Given the description of an element on the screen output the (x, y) to click on. 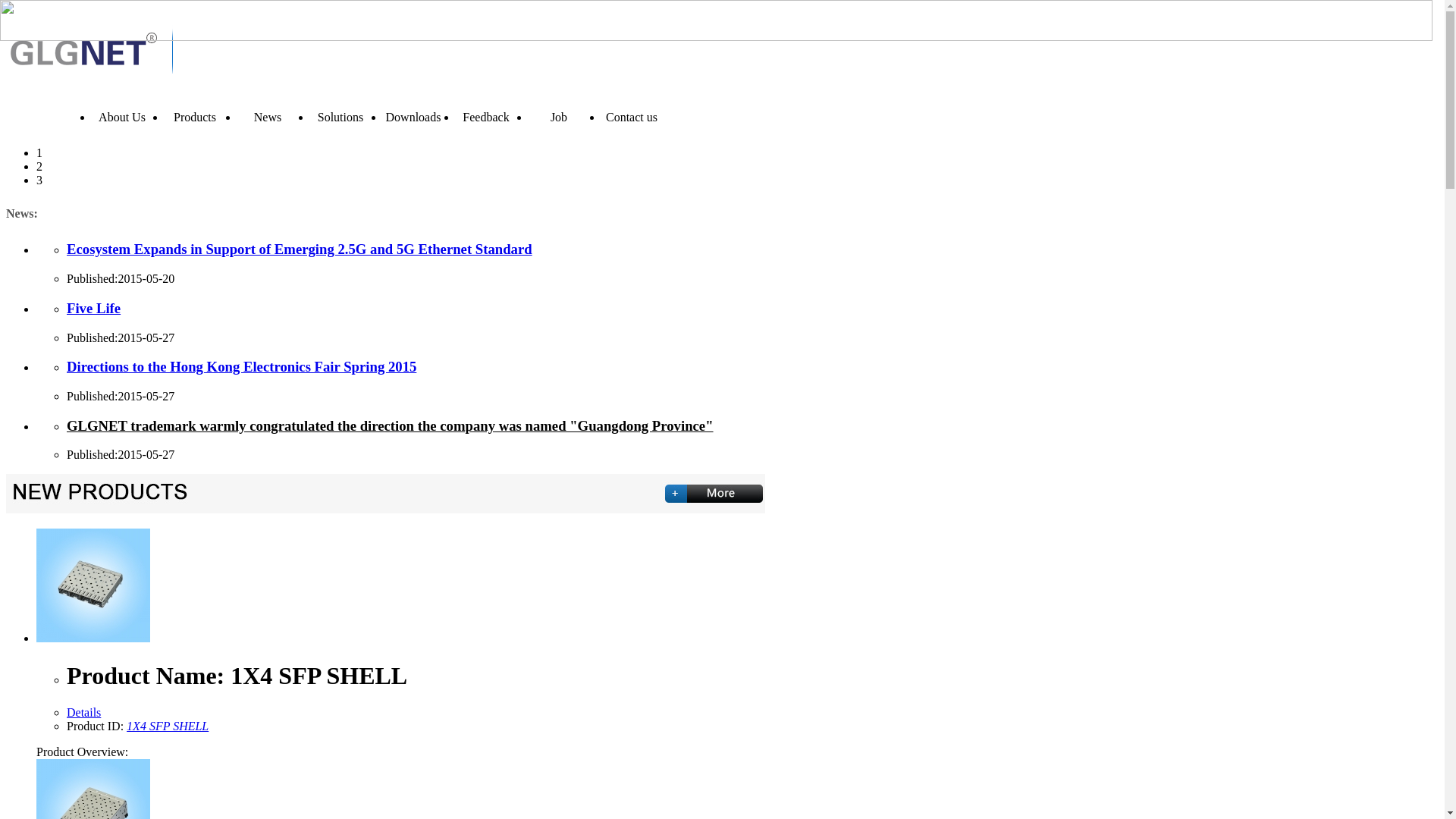
Feedback Element type: text (485, 117)
Five Life Element type: text (93, 308)
1X4 SFP SHELL Element type: text (167, 725)
Contact us Element type: text (631, 117)
Job Element type: text (558, 117)
About Us Element type: text (121, 117)
Directions to the Hong Kong Electronics Fair Spring 2015 Element type: text (241, 366)
Home Element type: text (49, 117)
Products Element type: text (194, 117)
News Element type: text (267, 117)
1X4 SFP SHELL Element type: hover (93, 637)
Details Element type: text (83, 712)
English Element type: text (721, 117)
Solutions Element type: text (340, 117)
1X4 SFP SHELL Element type: hover (93, 585)
Downloads Element type: text (413, 117)
